Given the description of an element on the screen output the (x, y) to click on. 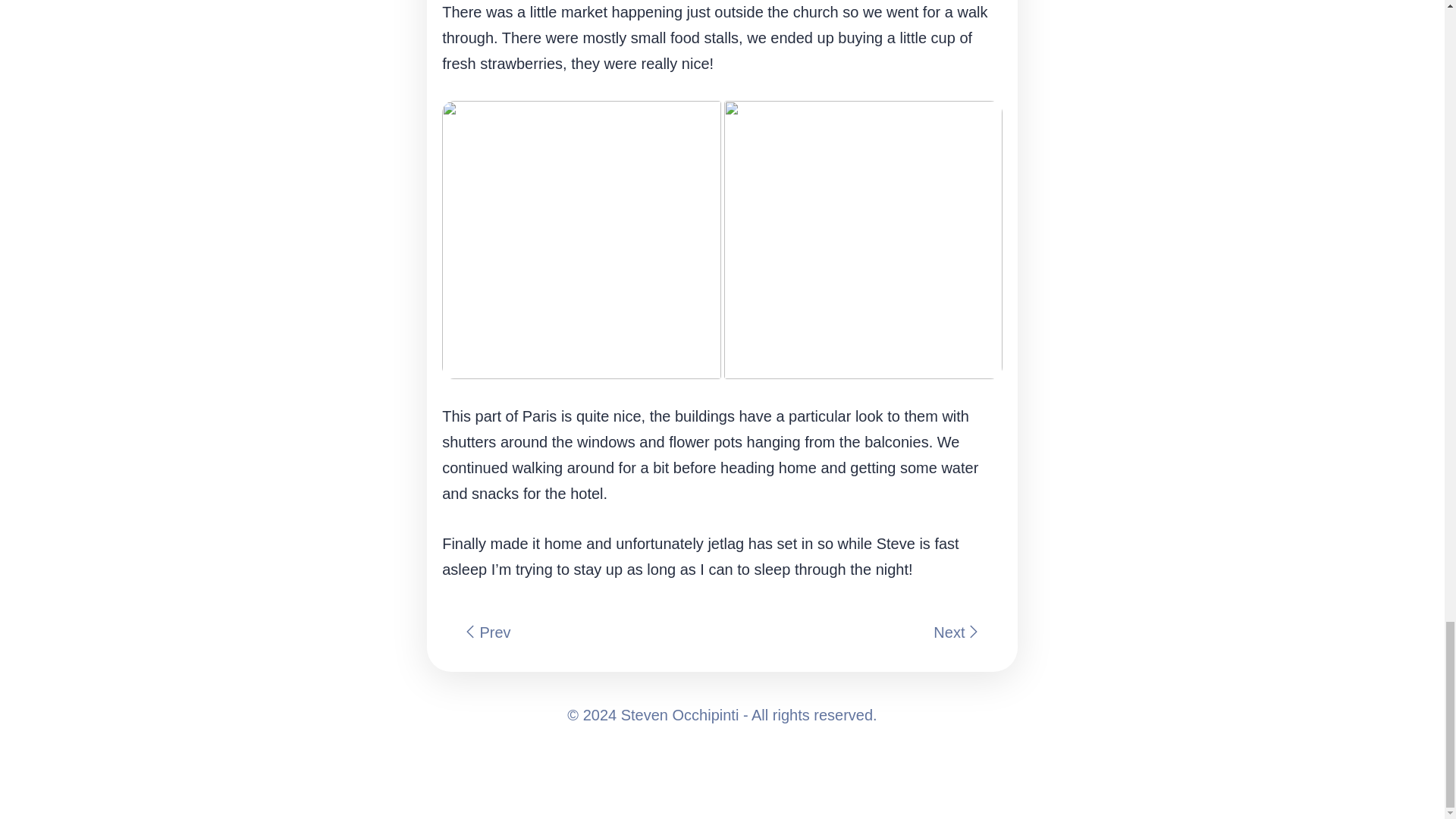
Next (861, 631)
Prev (582, 631)
